Given the description of an element on the screen output the (x, y) to click on. 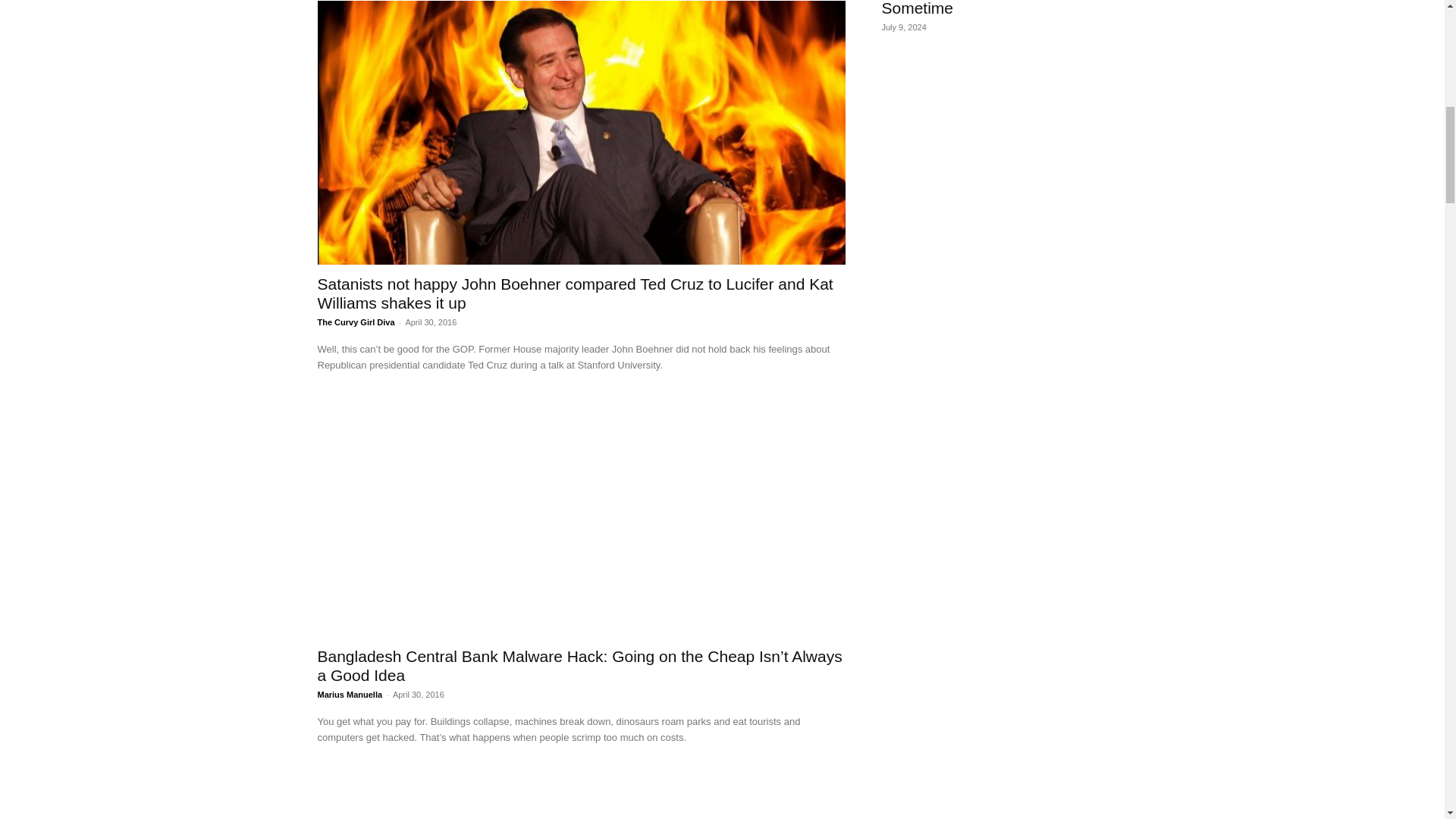
The Curvy Girl Diva (355, 321)
